Given the description of an element on the screen output the (x, y) to click on. 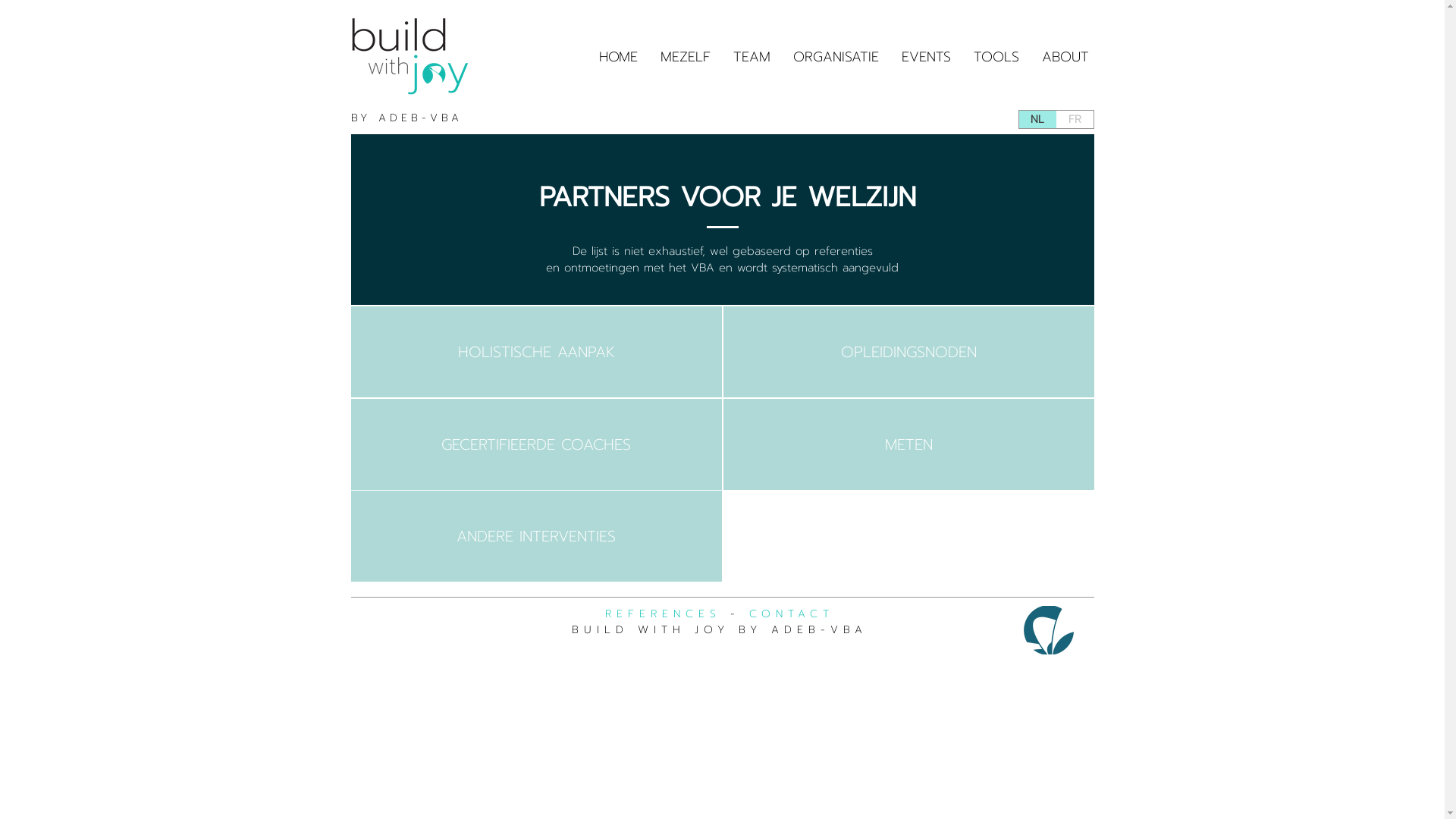
GECERTIFIEERDE COACHES Element type: text (535, 443)
NL Element type: text (1037, 119)
REFERENCES Element type: text (663, 613)
OPLEIDINGSNODEN Element type: text (908, 351)
METEN Element type: text (908, 443)
MEZELF Element type: text (685, 56)
HOLISTISCHE AANPAK Element type: text (535, 351)
ADEB-VBA Element type: text (419, 117)
HOME Element type: text (617, 56)
EVENTS Element type: text (926, 56)
ADEB-VBA Element type: text (818, 629)
FR Element type: text (1073, 119)
TEAM Element type: text (751, 56)
ANDERE INTERVENTIES Element type: text (535, 535)
ORGANISATIE Element type: text (835, 56)
CONTACT Element type: text (791, 613)
